Given the description of an element on the screen output the (x, y) to click on. 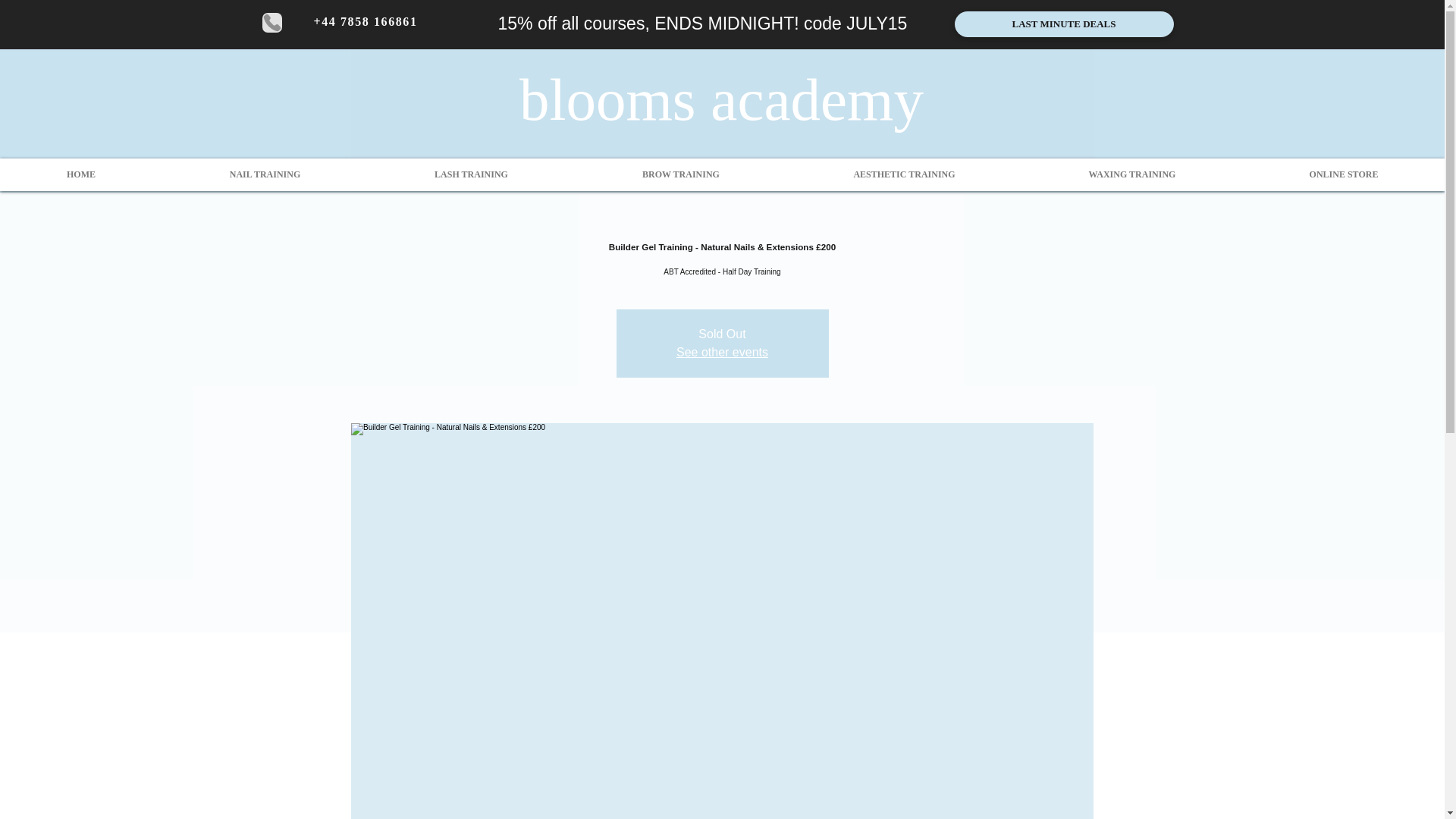
See other events (722, 351)
blooms academy (721, 98)
HOME (80, 174)
LAST MINUTE DEALS (1063, 23)
